Given the description of an element on the screen output the (x, y) to click on. 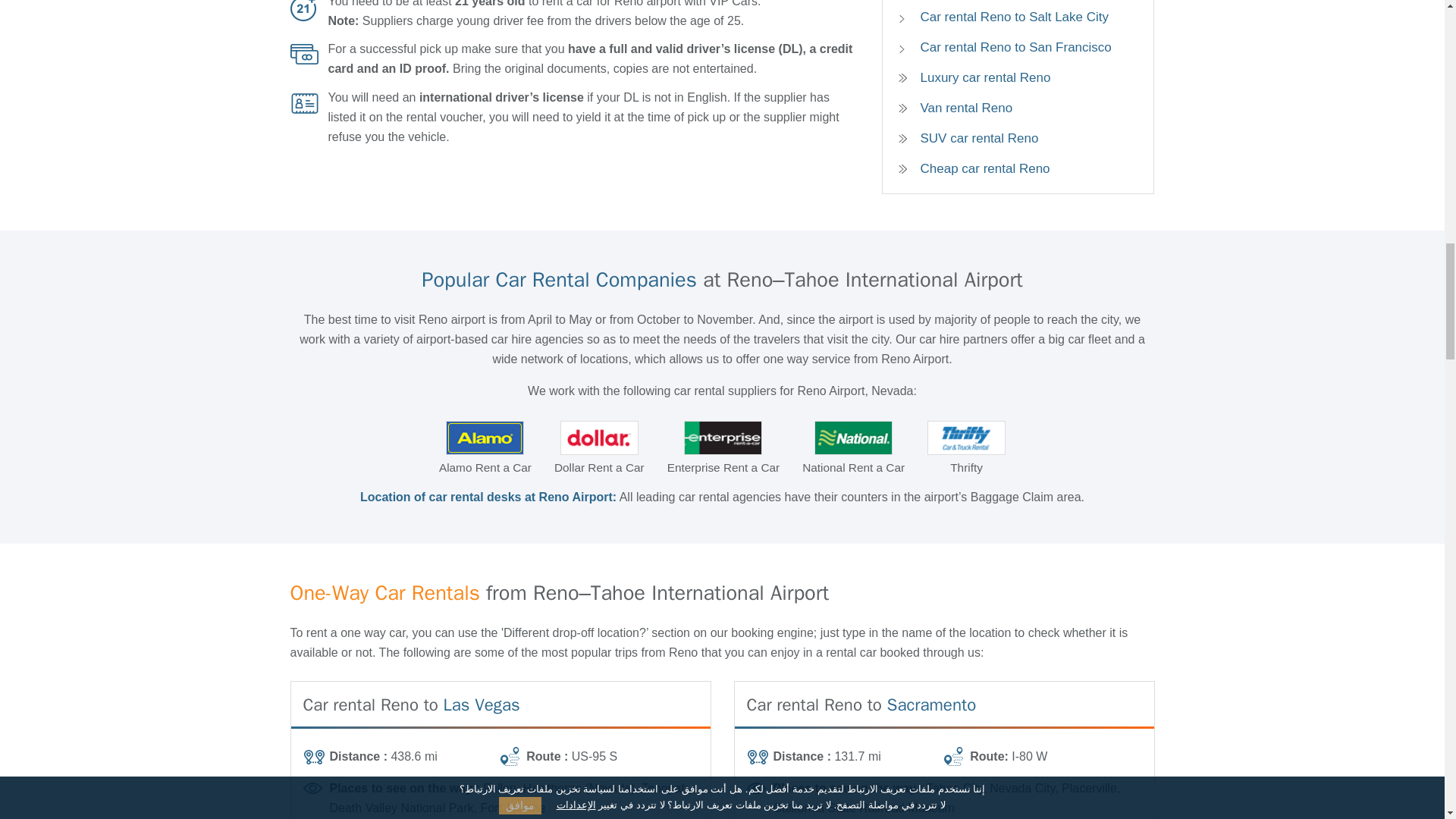
Car rental Reno to San Francisco (1009, 46)
Car rental Reno to Salt Lake City (1009, 16)
Luxury car rental Reno (1018, 76)
Cheap car rental Reno (1018, 168)
SUV car rental Reno (1018, 138)
Van rental Reno (1018, 107)
